Given the description of an element on the screen output the (x, y) to click on. 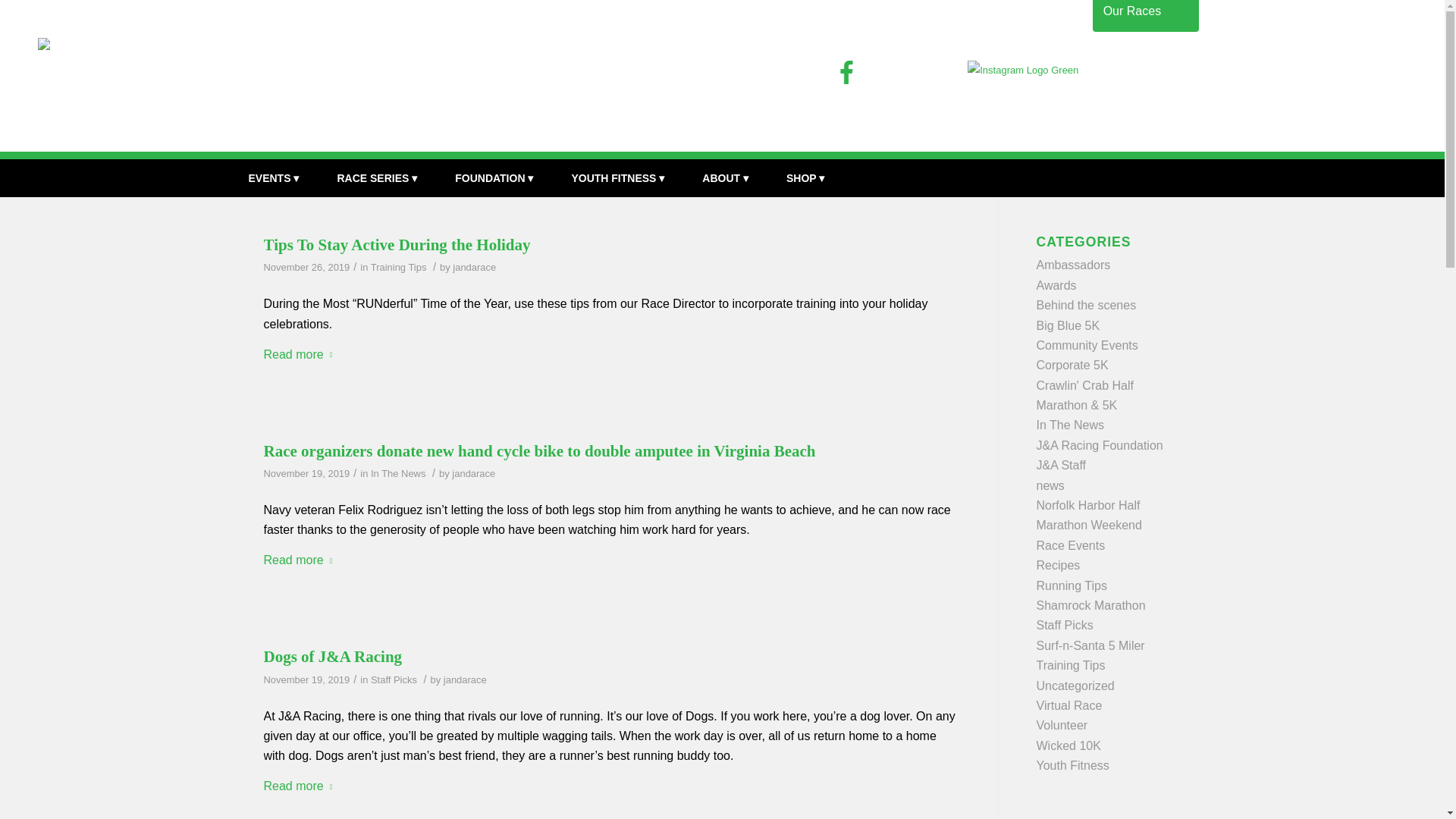
Posts by jandarace (465, 679)
EVENTS (272, 177)
FOUNDATION (493, 177)
Permanent Link: Tips To Stay Active During the Holiday (397, 244)
Posts by jandarace (474, 266)
RACE SERIES (376, 177)
Posts by jandarace (473, 473)
